Given the description of an element on the screen output the (x, y) to click on. 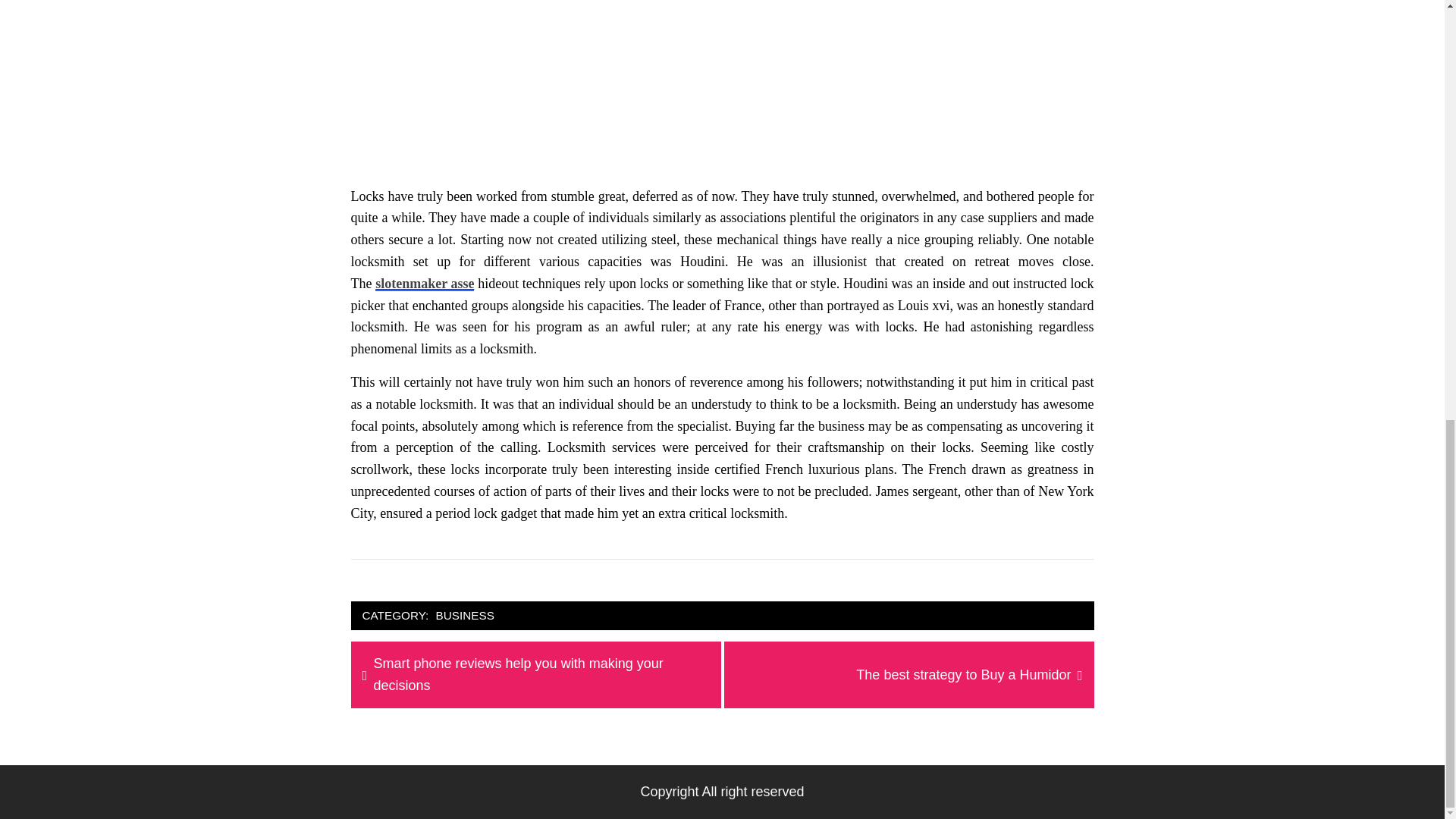
slotenmaker asse (424, 283)
BUSINESS (962, 675)
